Given the description of an element on the screen output the (x, y) to click on. 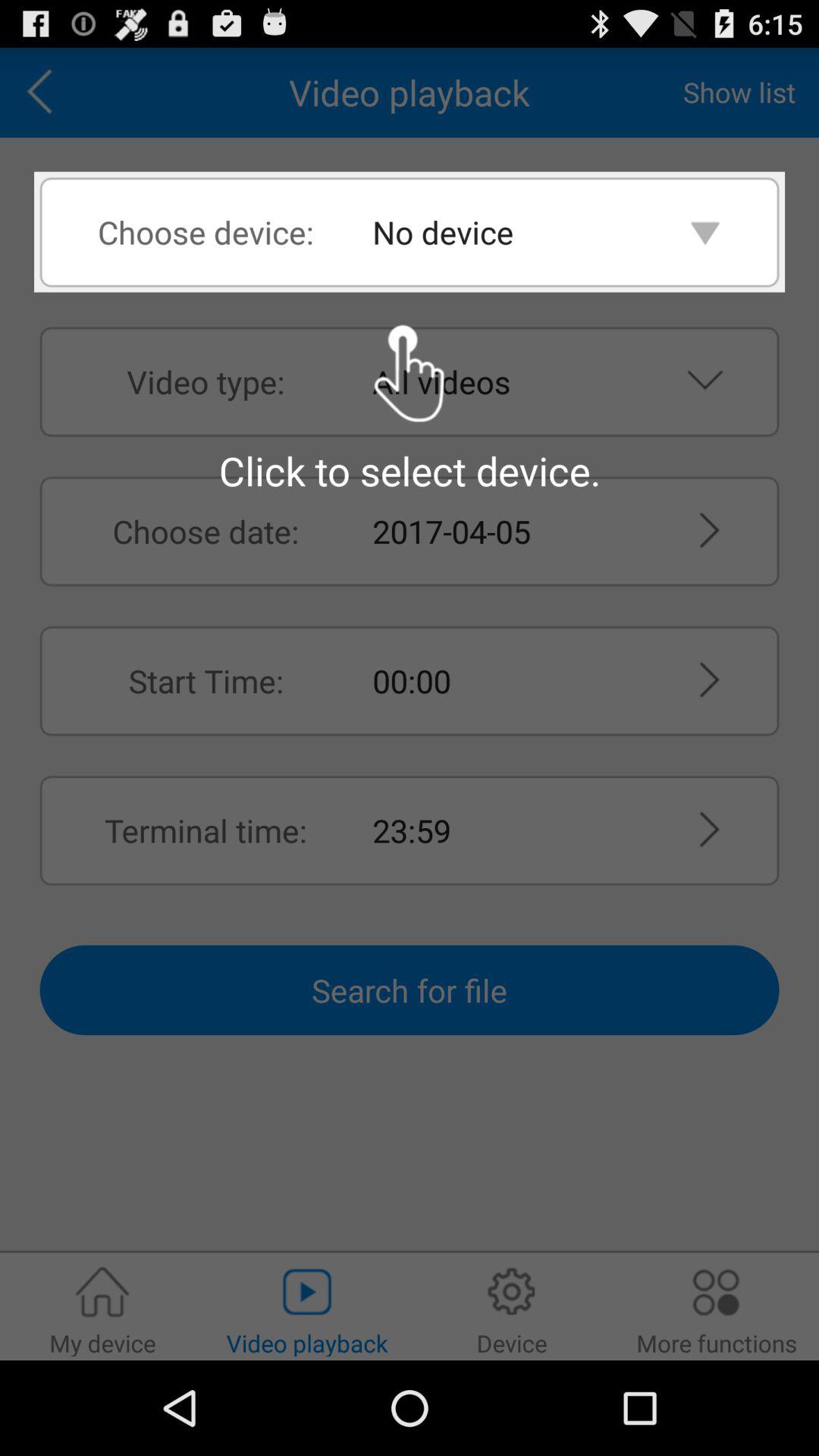
click icon next to the video playback (44, 92)
